Given the description of an element on the screen output the (x, y) to click on. 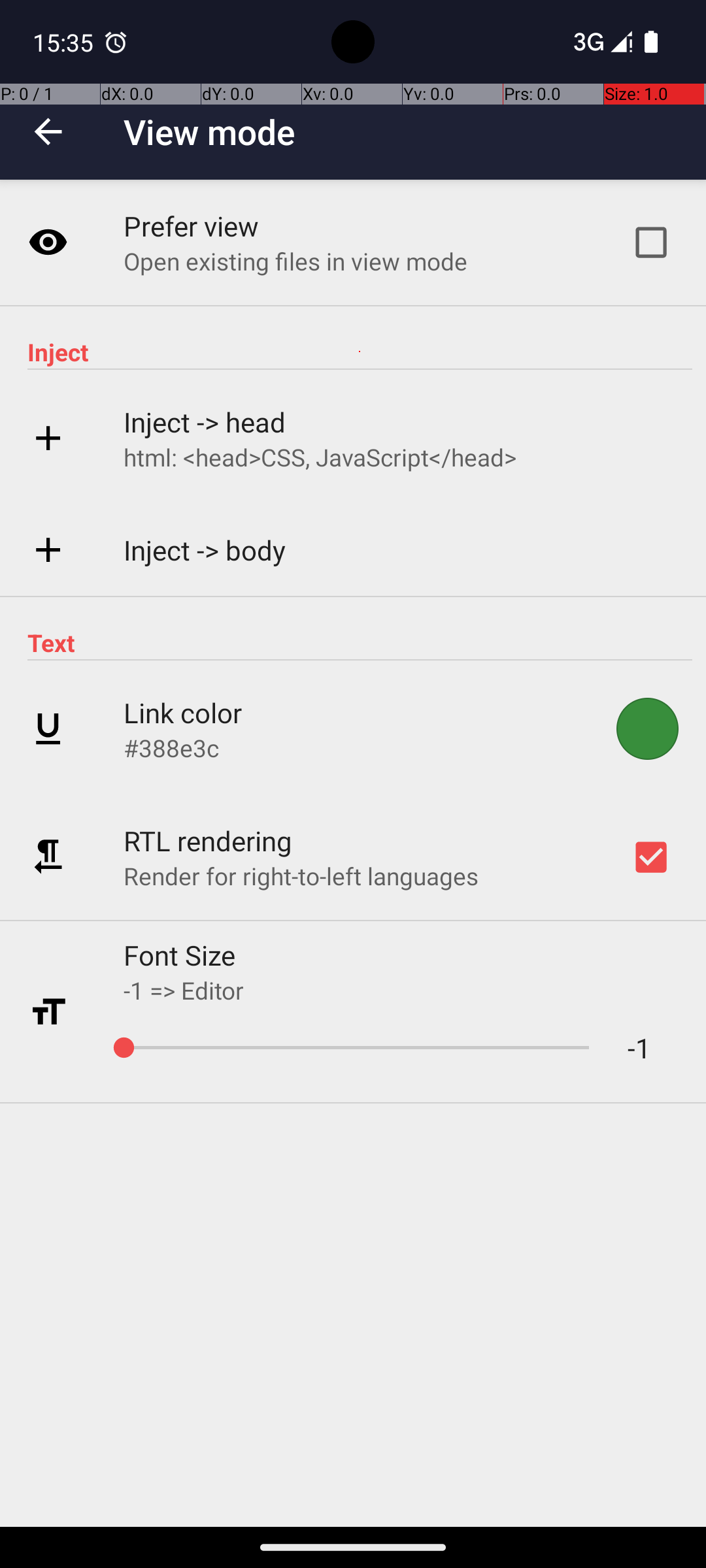
Inject Element type: android.widget.TextView (359, 351)
Prefer view Element type: android.widget.TextView (191, 225)
Open existing files in view mode Element type: android.widget.TextView (295, 260)
Inject -> head Element type: android.widget.TextView (204, 421)
html: <head>CSS, JavaScript</head> Element type: android.widget.TextView (320, 456)
Inject -> body Element type: android.widget.TextView (204, 549)
Link color Element type: android.widget.TextView (182, 712)
#388e3c Element type: android.widget.TextView (170, 747)
RTL rendering Element type: android.widget.TextView (207, 840)
Render for right-to-left languages Element type: android.widget.TextView (300, 875)
Font Size Element type: android.widget.TextView (179, 954)
-1 => Editor Element type: android.widget.TextView (183, 989)
-1 Element type: android.widget.TextView (619, 1047)
